Given the description of an element on the screen output the (x, y) to click on. 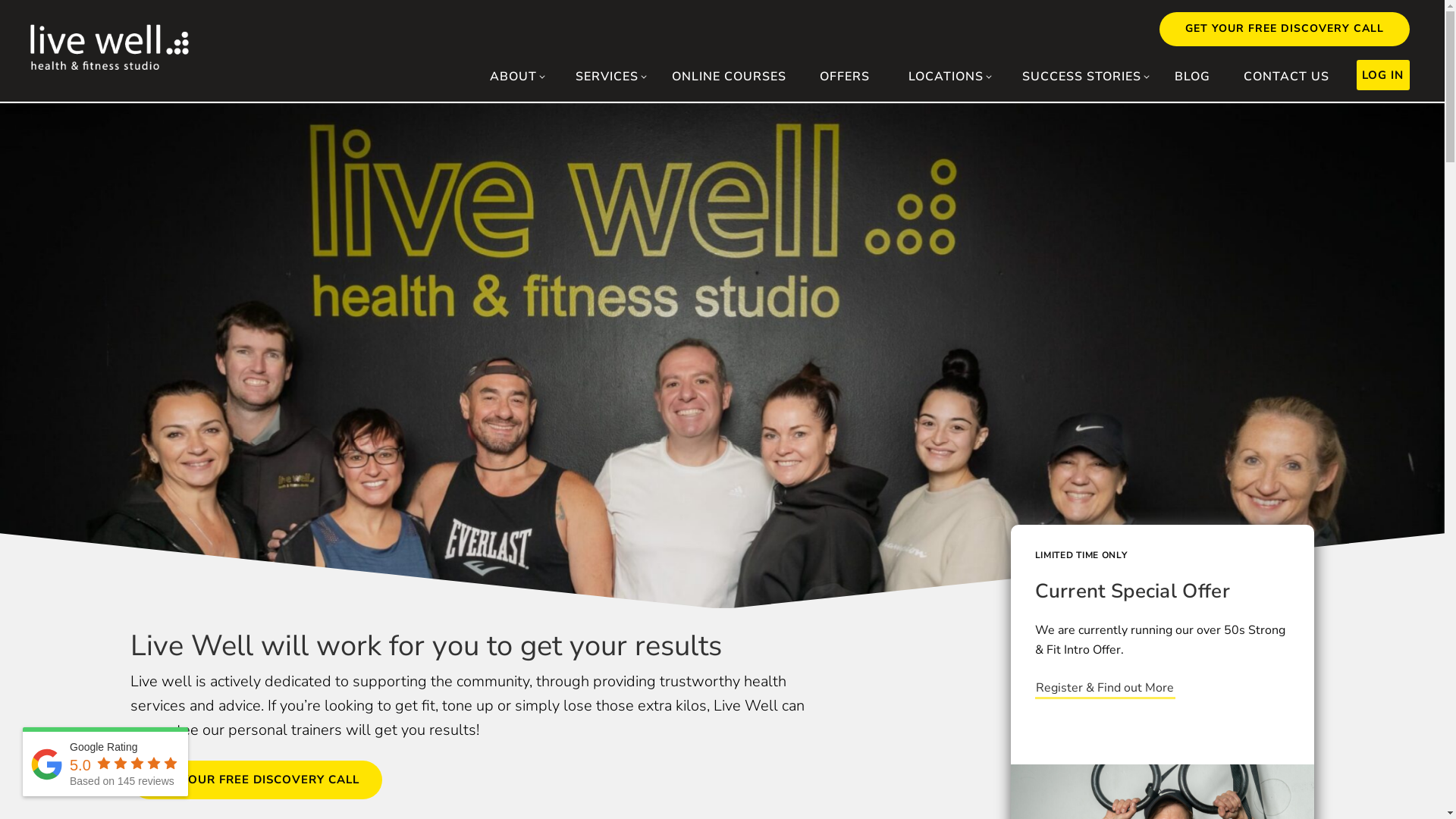
SERVICES Element type: text (604, 75)
Register & Find out More Element type: text (1104, 688)
GET YOUR FREE DISCOVERY CALL Element type: text (256, 779)
LOCATIONS Element type: text (943, 75)
ABOUT Element type: text (510, 75)
CONTACT US Element type: text (1286, 75)
home Element type: hover (109, 65)
GET YOUR FREE DISCOVERY CALL Element type: text (1283, 29)
OFFERS Element type: text (844, 75)
BLOG Element type: text (1192, 75)
ONLINE COURSES Element type: text (728, 75)
LOG IN Element type: text (1382, 74)
SUCCESS STORIES Element type: text (1078, 75)
